Given the description of an element on the screen output the (x, y) to click on. 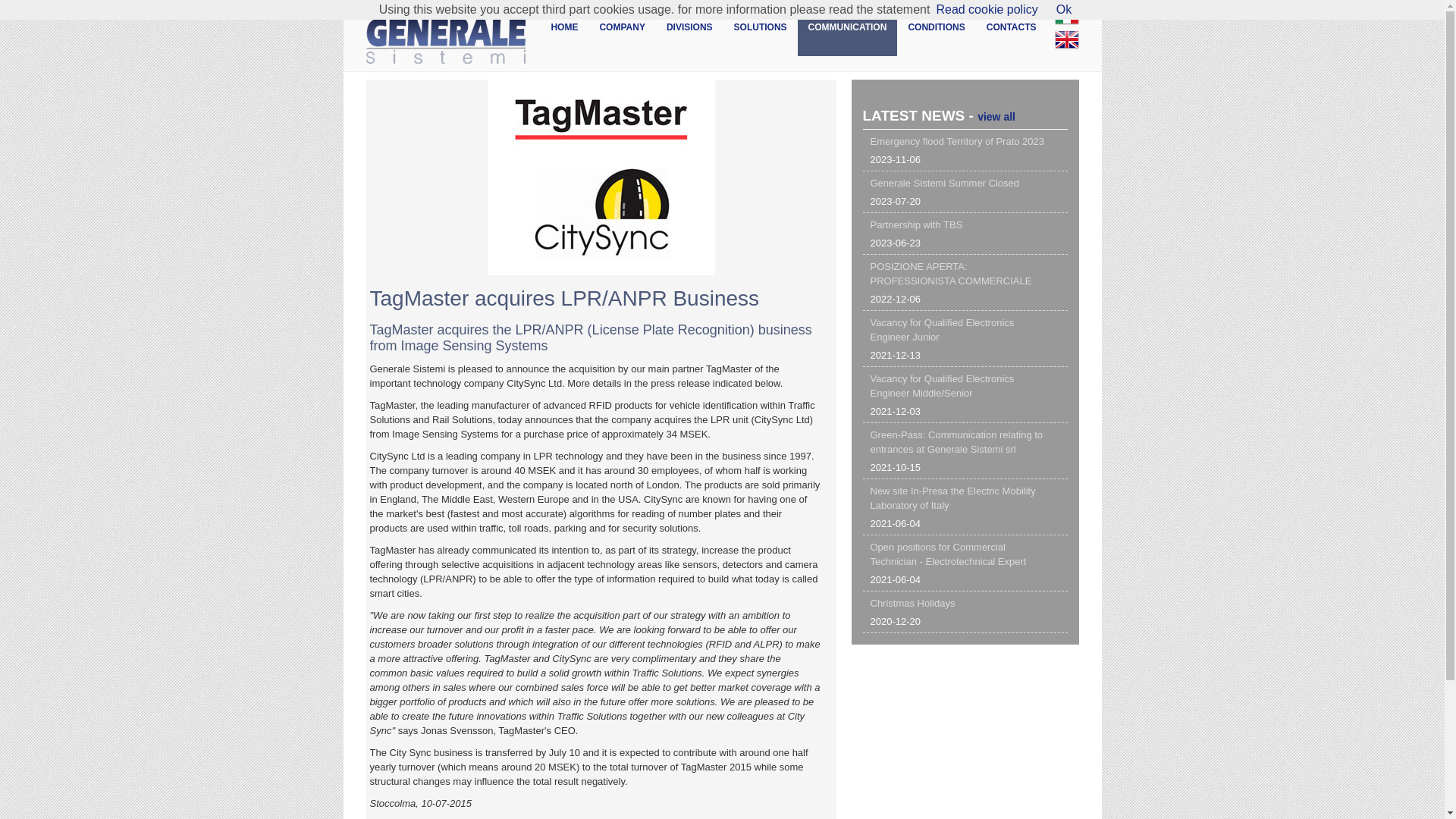
COMPANY (965, 338)
DIVISIONS (965, 233)
CONDITIONS (965, 191)
HOME (965, 282)
COMMUNICATION (621, 29)
CONTACTS (689, 29)
SOLUTIONS (935, 29)
view all (564, 29)
